Given the description of an element on the screen output the (x, y) to click on. 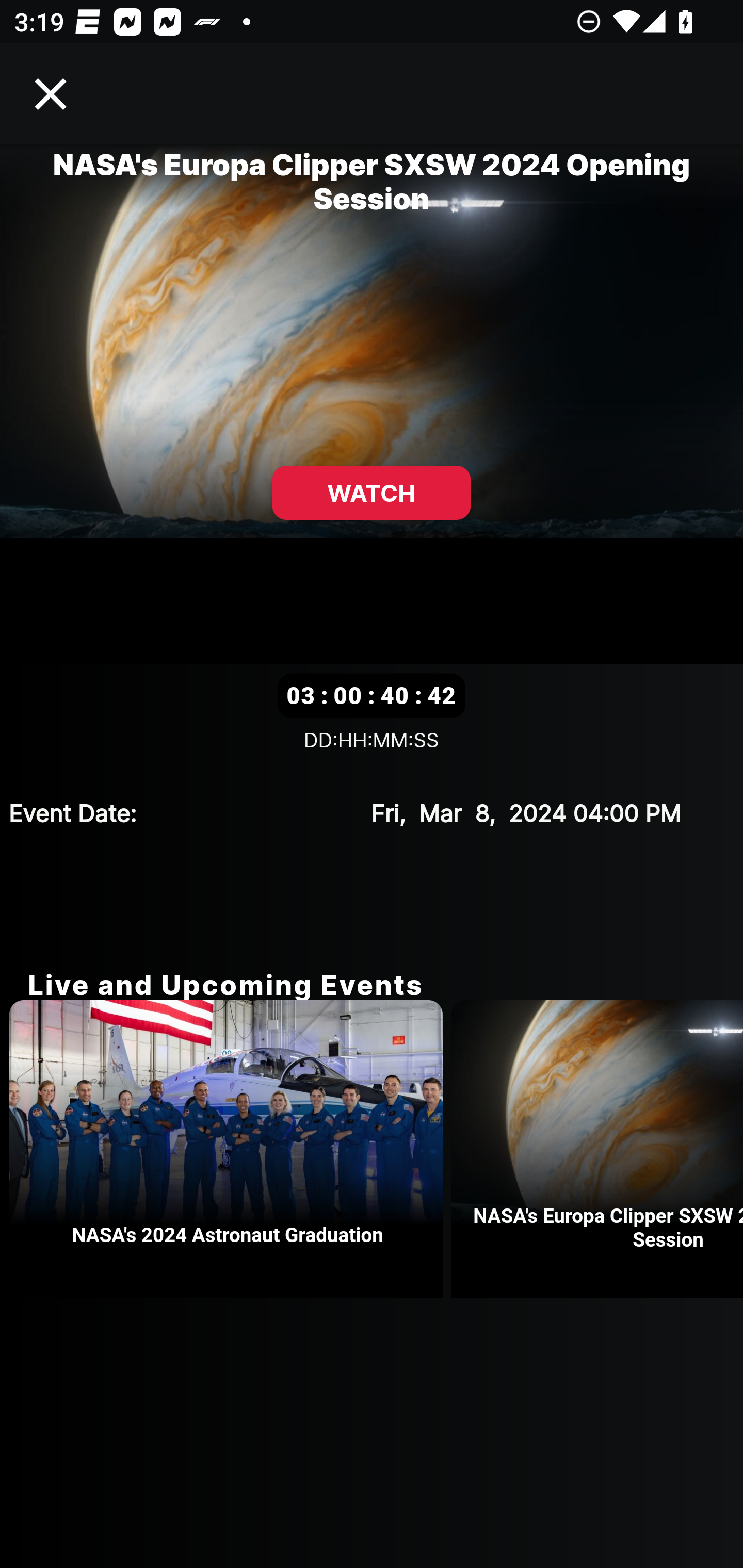
WATCH (371, 492)
NASA's 2024 Astronaut Graduation (229, 1149)
NASA's Europa Clipper SXSW 2024 Opening Session (597, 1149)
